Given the description of an element on the screen output the (x, y) to click on. 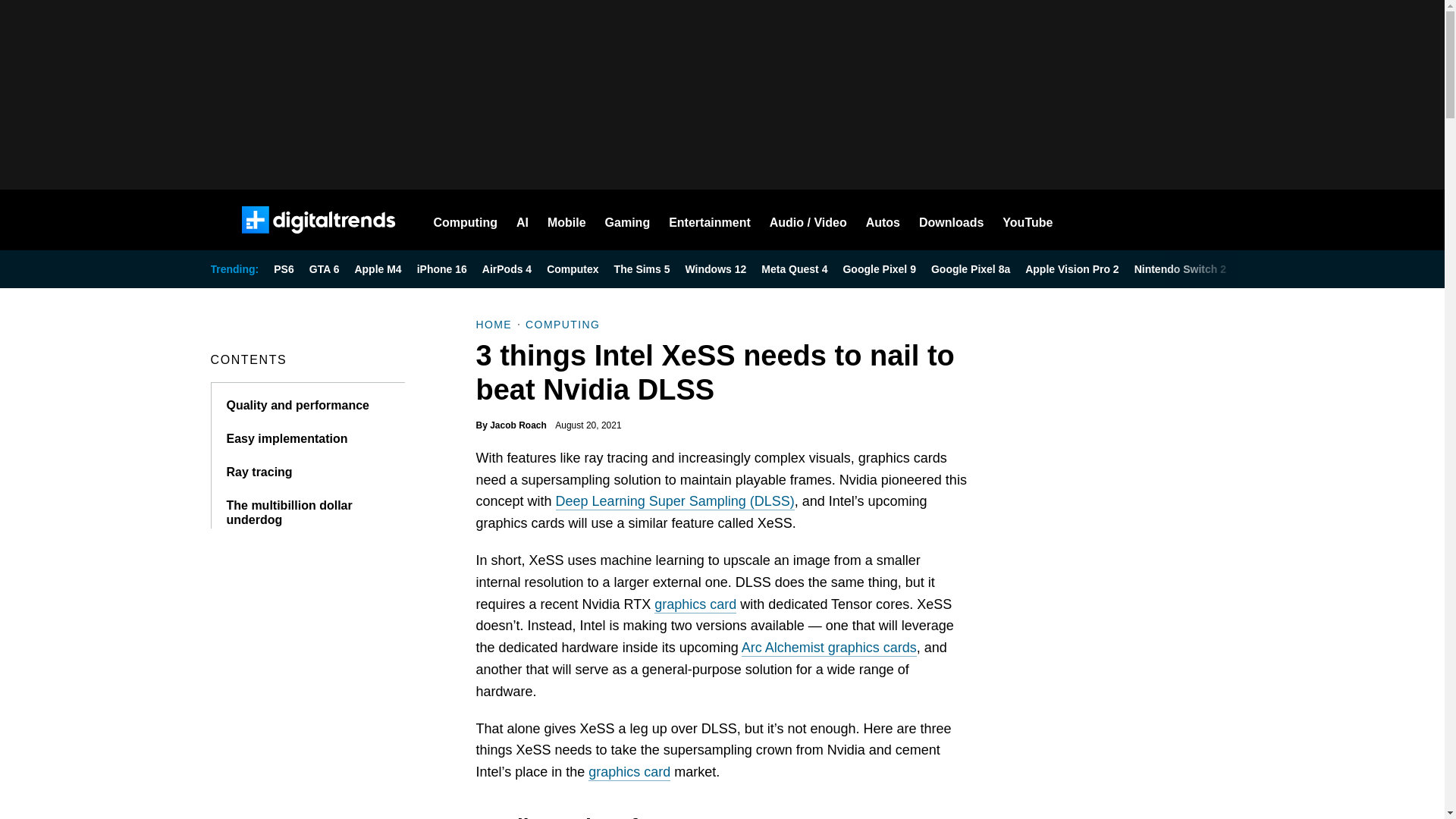
YouTube (1027, 219)
Autos (882, 219)
Gaming (627, 219)
AI (522, 219)
Mobile (566, 219)
Downloads (951, 219)
Entertainment (709, 219)
Computing (465, 219)
